Given the description of an element on the screen output the (x, y) to click on. 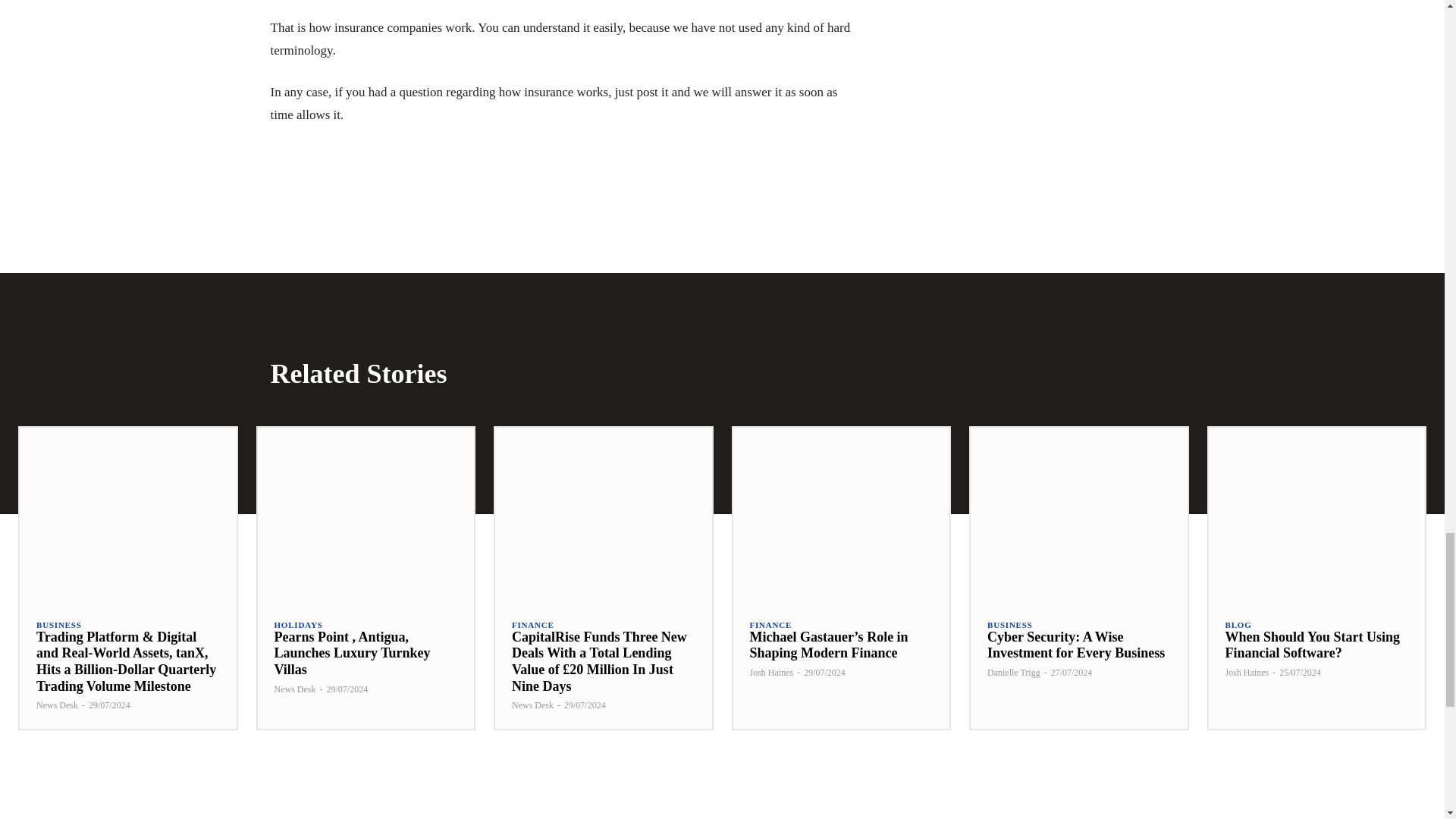
Pearns Point , Antigua, Launches Luxury Turnkey Villas (352, 653)
Pearns Point , Antigua, Launches Luxury Turnkey Villas (365, 513)
